Given the description of an element on the screen output the (x, y) to click on. 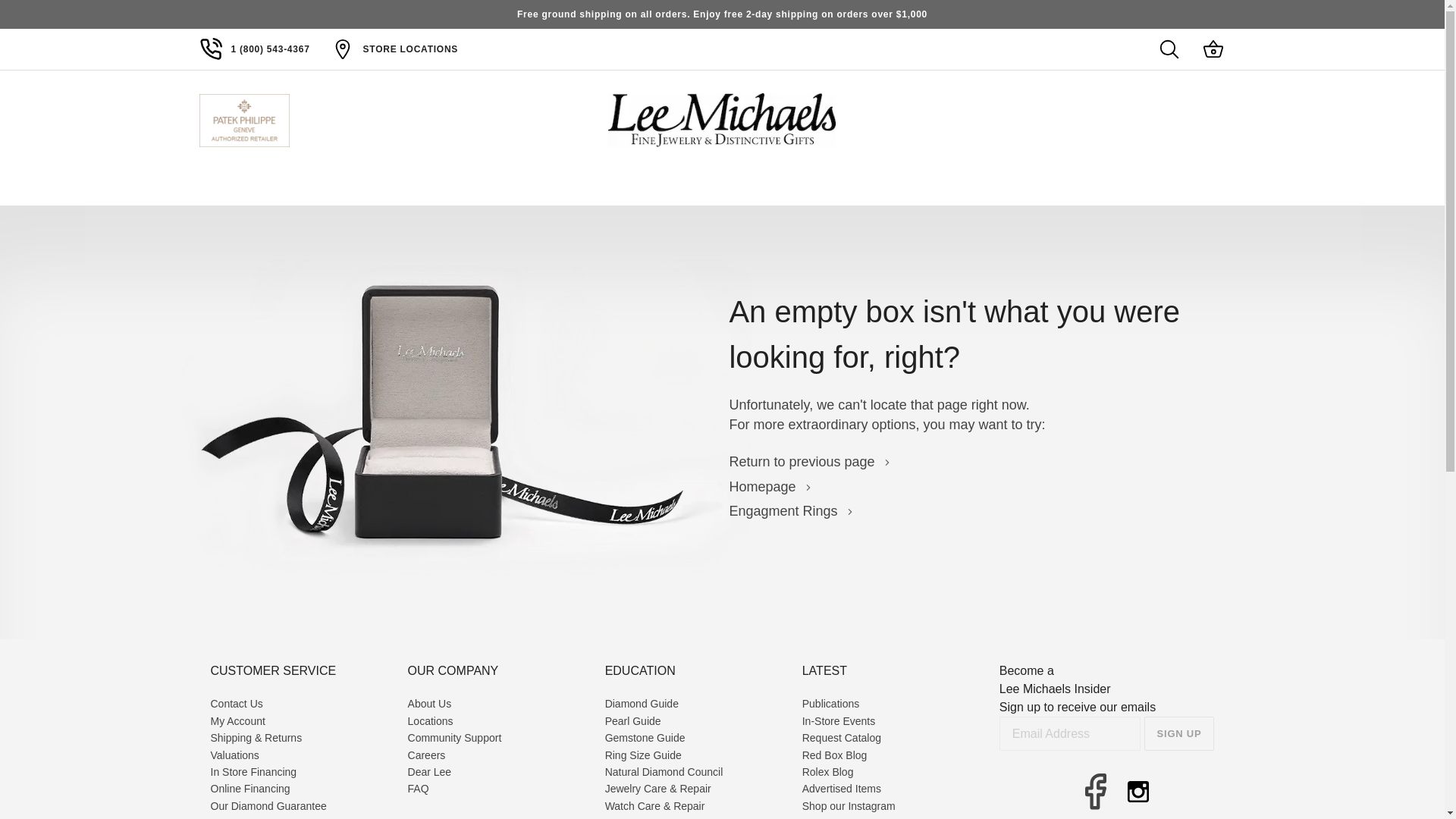
Online Financing (250, 788)
Careers (426, 754)
Valuations (235, 754)
Contact Us (237, 703)
Publications (831, 703)
Diamond Guide (641, 703)
Rolex Official Retailer (1187, 120)
About Us (429, 703)
Engagment Rings (791, 510)
Community Support (454, 737)
Request Catalog (841, 737)
In-Store Events (839, 720)
In Store Financing (254, 771)
Homepage (770, 486)
Our Diamond Guarantee (268, 805)
